Given the description of an element on the screen output the (x, y) to click on. 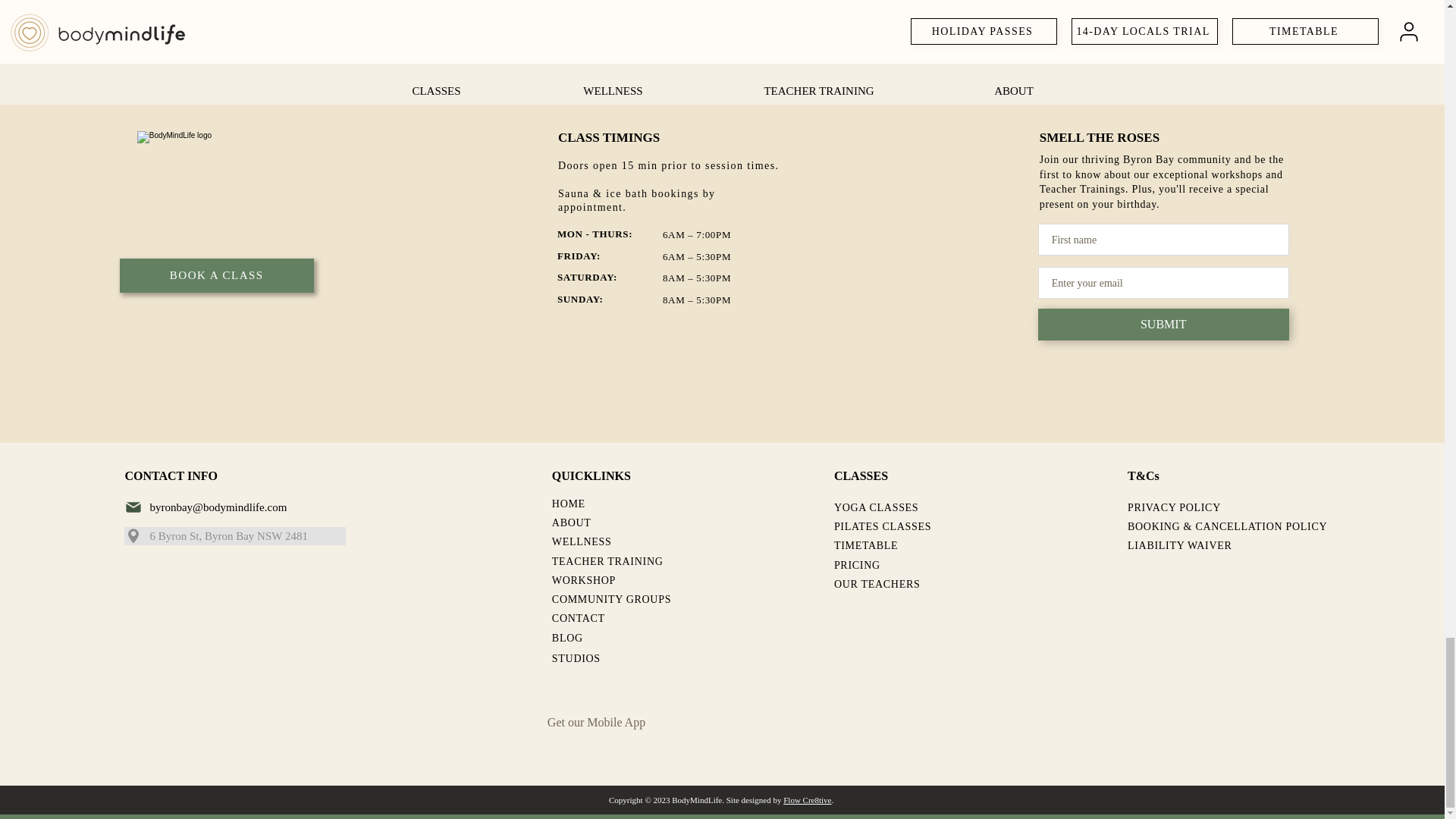
HOME (568, 503)
COMMUNITY GROUPS (611, 599)
STUDIOS (575, 657)
CONTACT (578, 618)
6 Byron St, Byron Bay NSW 2481 (234, 536)
BLOG (567, 637)
WORKSHOP (583, 580)
WELLNESS (581, 541)
ABOUT (571, 522)
TEACHER TRAINING (607, 561)
